Given the description of an element on the screen output the (x, y) to click on. 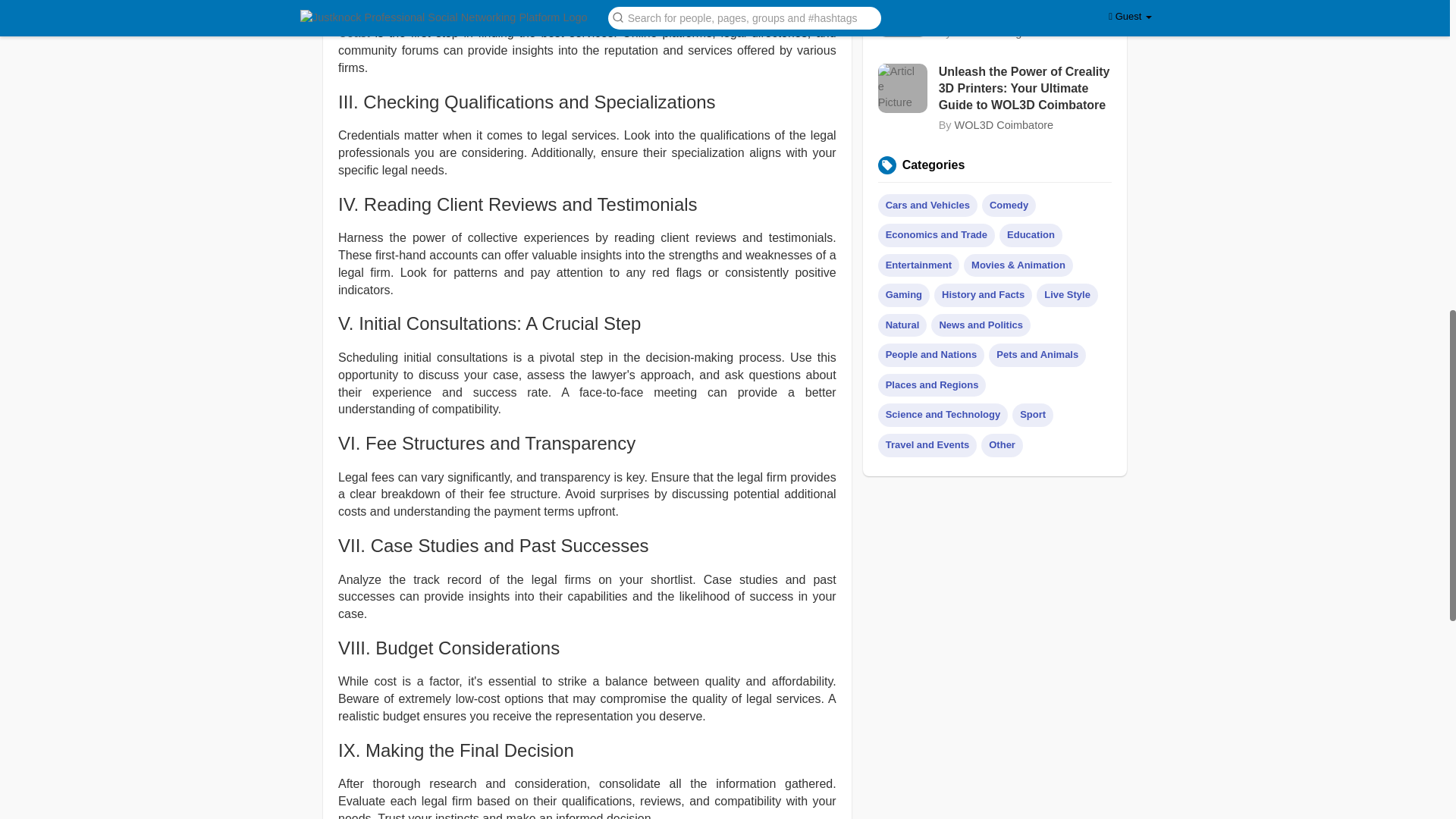
How to Analyze the Instagram Competitor (1025, 11)
law firms Sunshine Coast (586, 24)
